Given the description of an element on the screen output the (x, y) to click on. 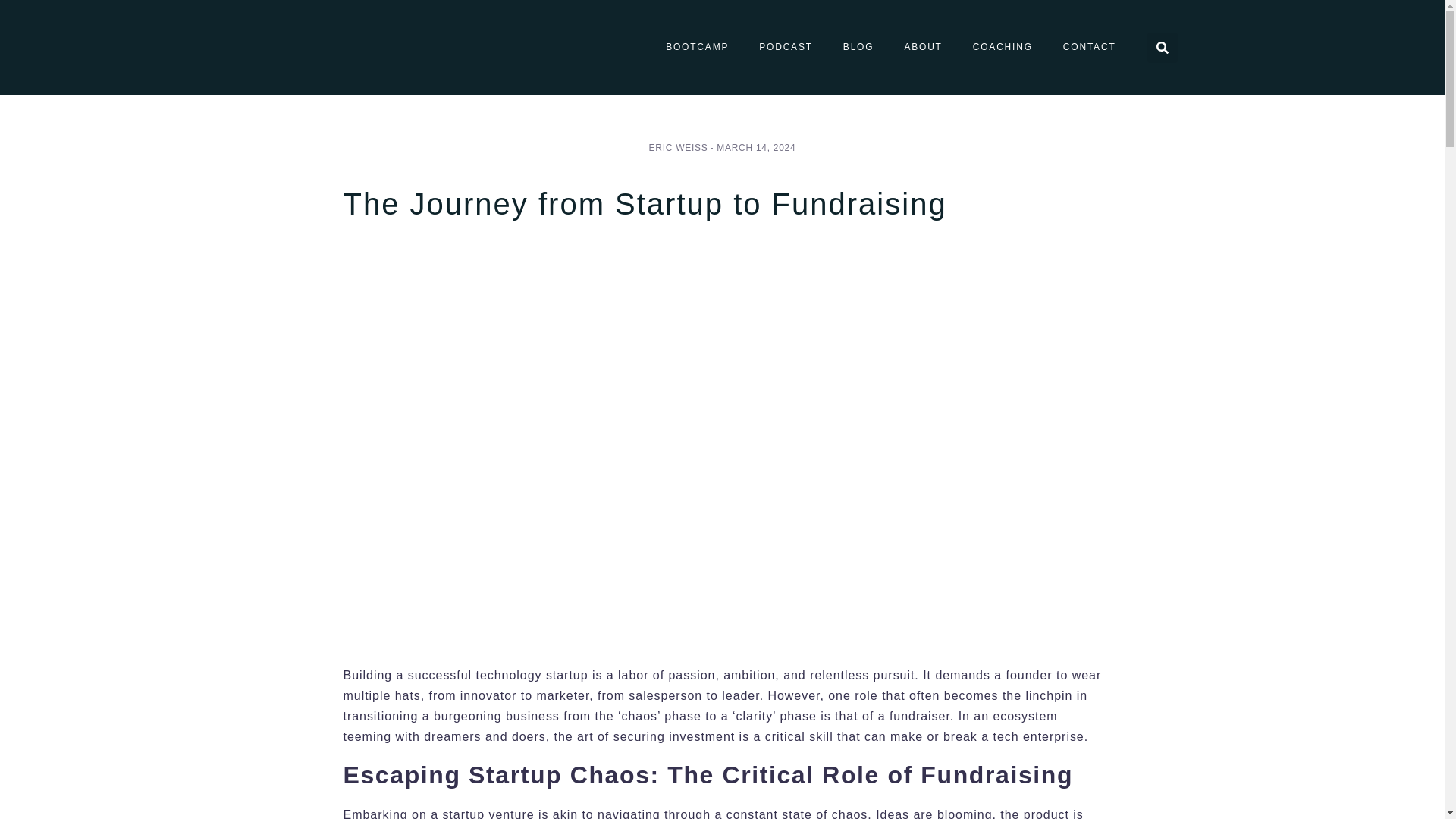
ERIC WEISS (678, 147)
ABOUT (922, 46)
BOOTCAMP (697, 46)
COACHING (1003, 46)
BLOG (858, 46)
CONTACT (1089, 46)
PODCAST (786, 46)
